Given the description of an element on the screen output the (x, y) to click on. 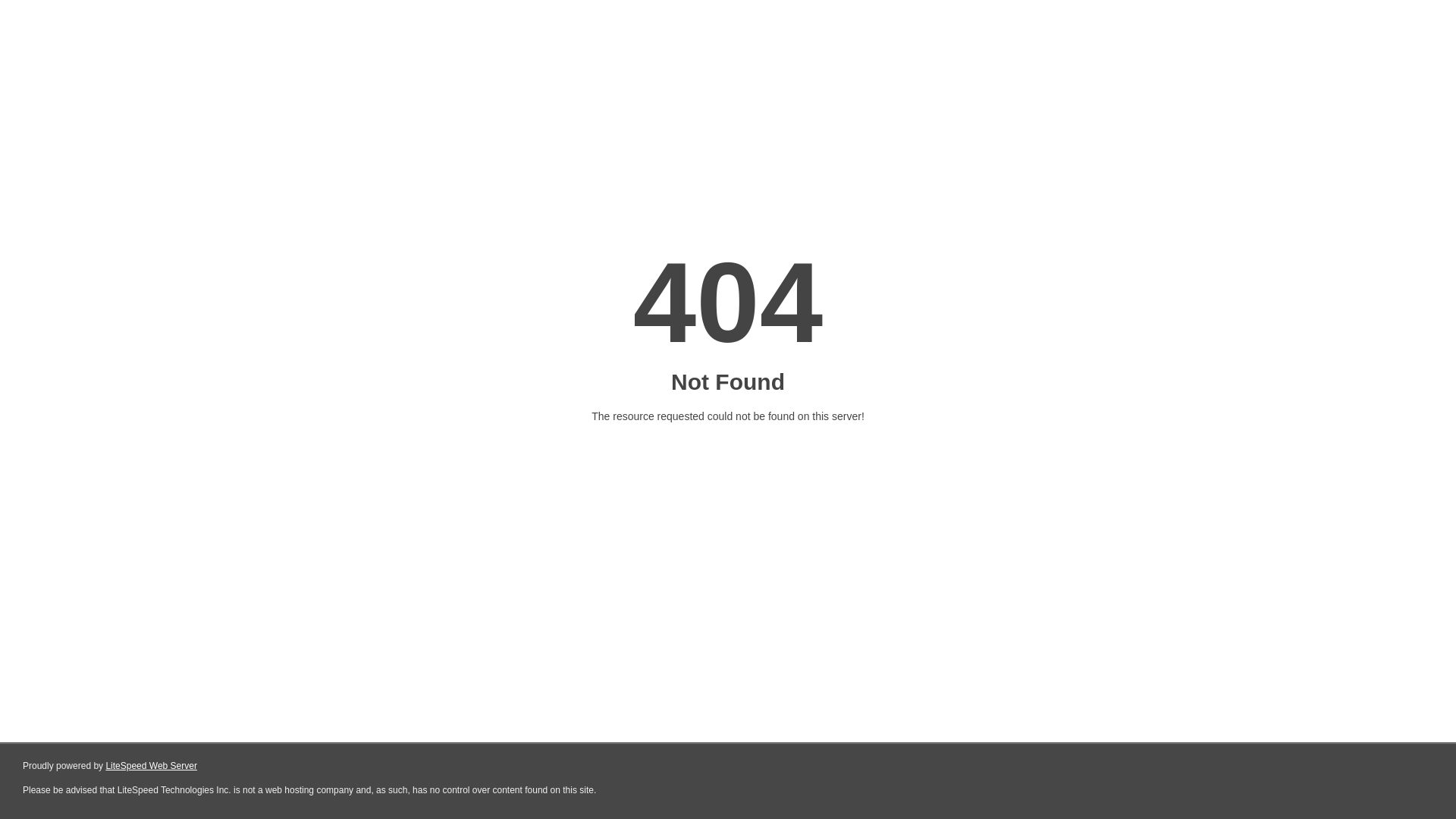
LiteSpeed Web Server Element type: text (151, 765)
